Given the description of an element on the screen output the (x, y) to click on. 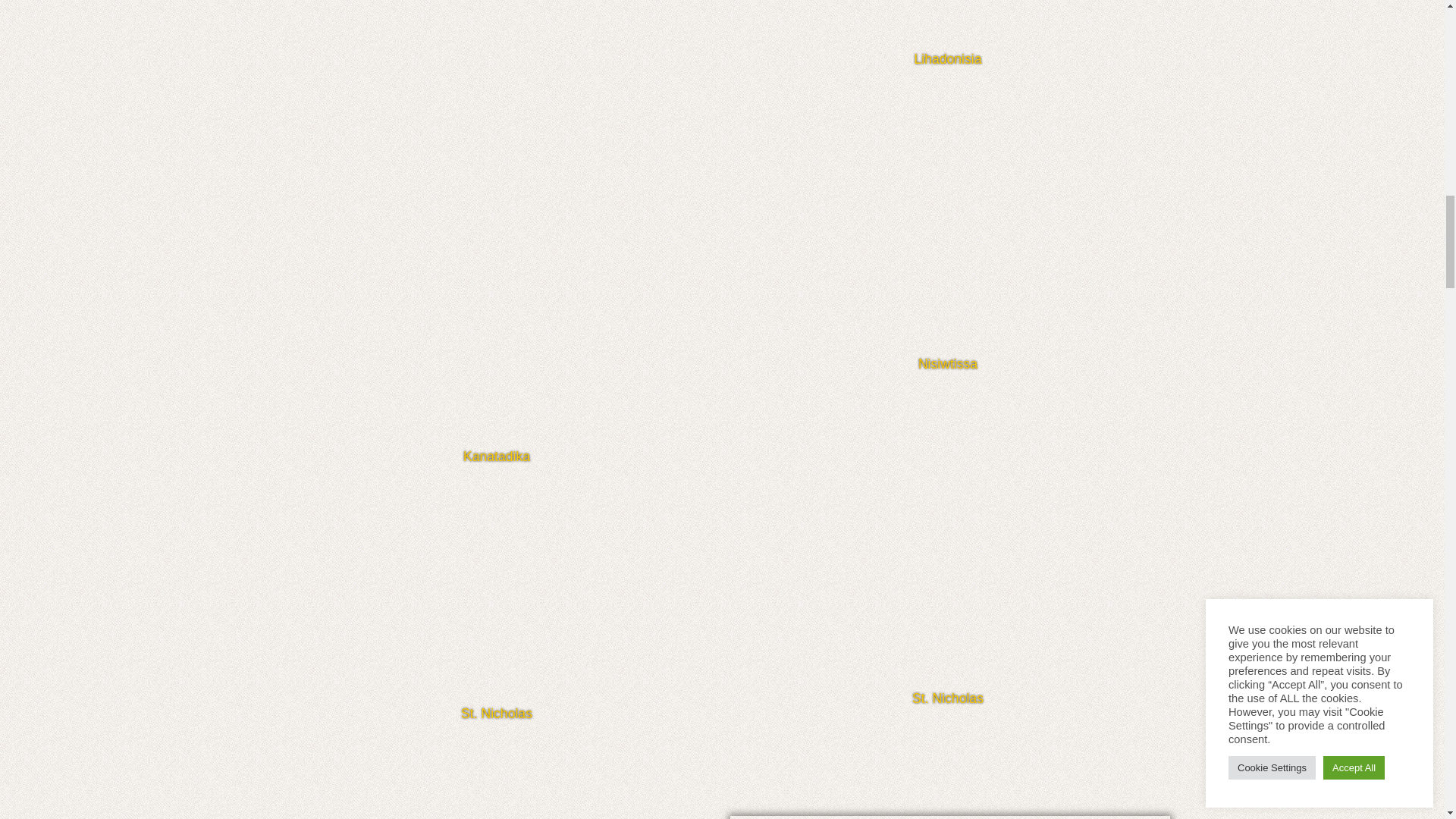
Lihadonisia (948, 35)
Nisiwtissa (948, 226)
St. Nicholas (496, 599)
